Given the description of an element on the screen output the (x, y) to click on. 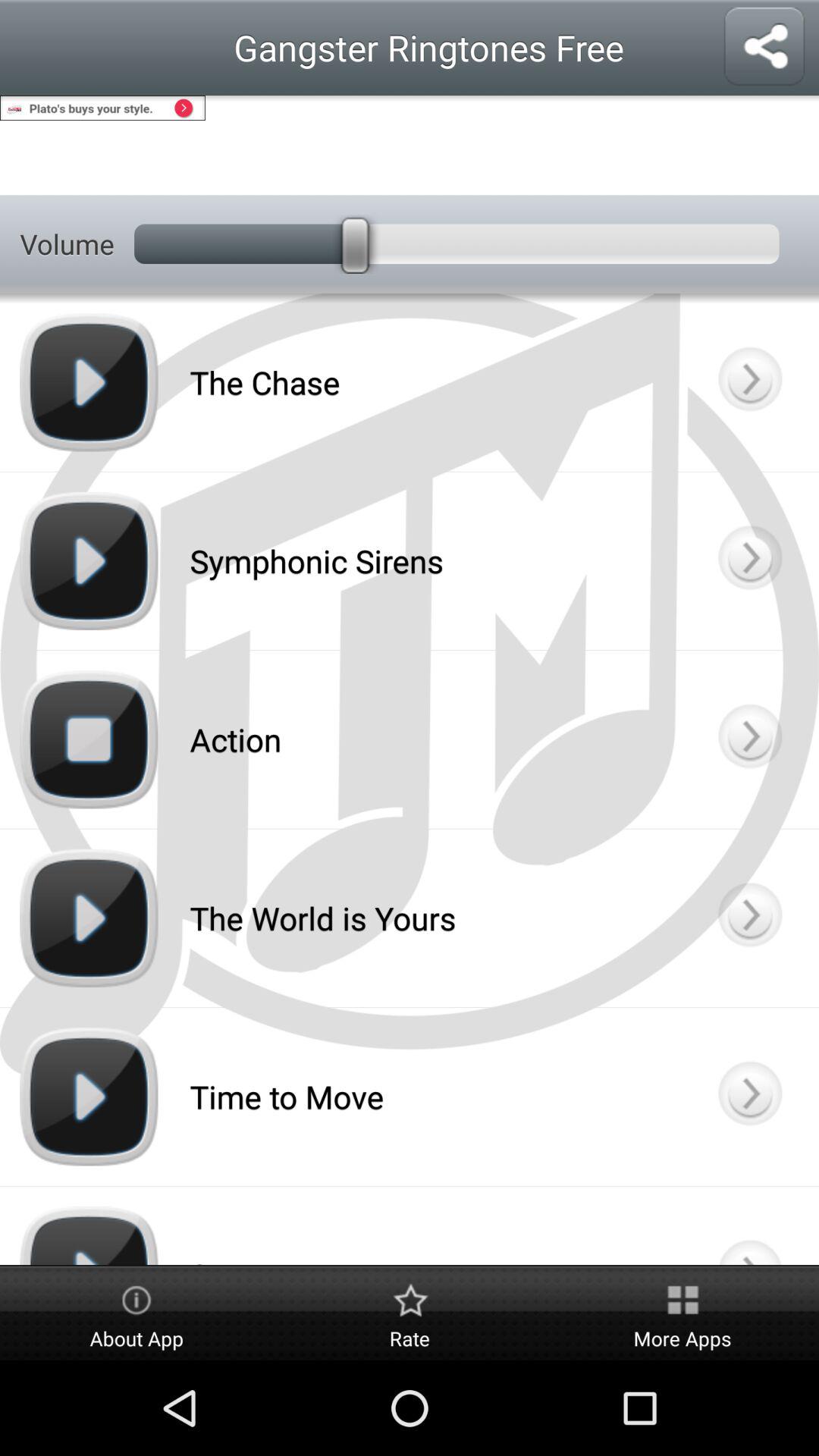
select action (749, 739)
